Given the description of an element on the screen output the (x, y) to click on. 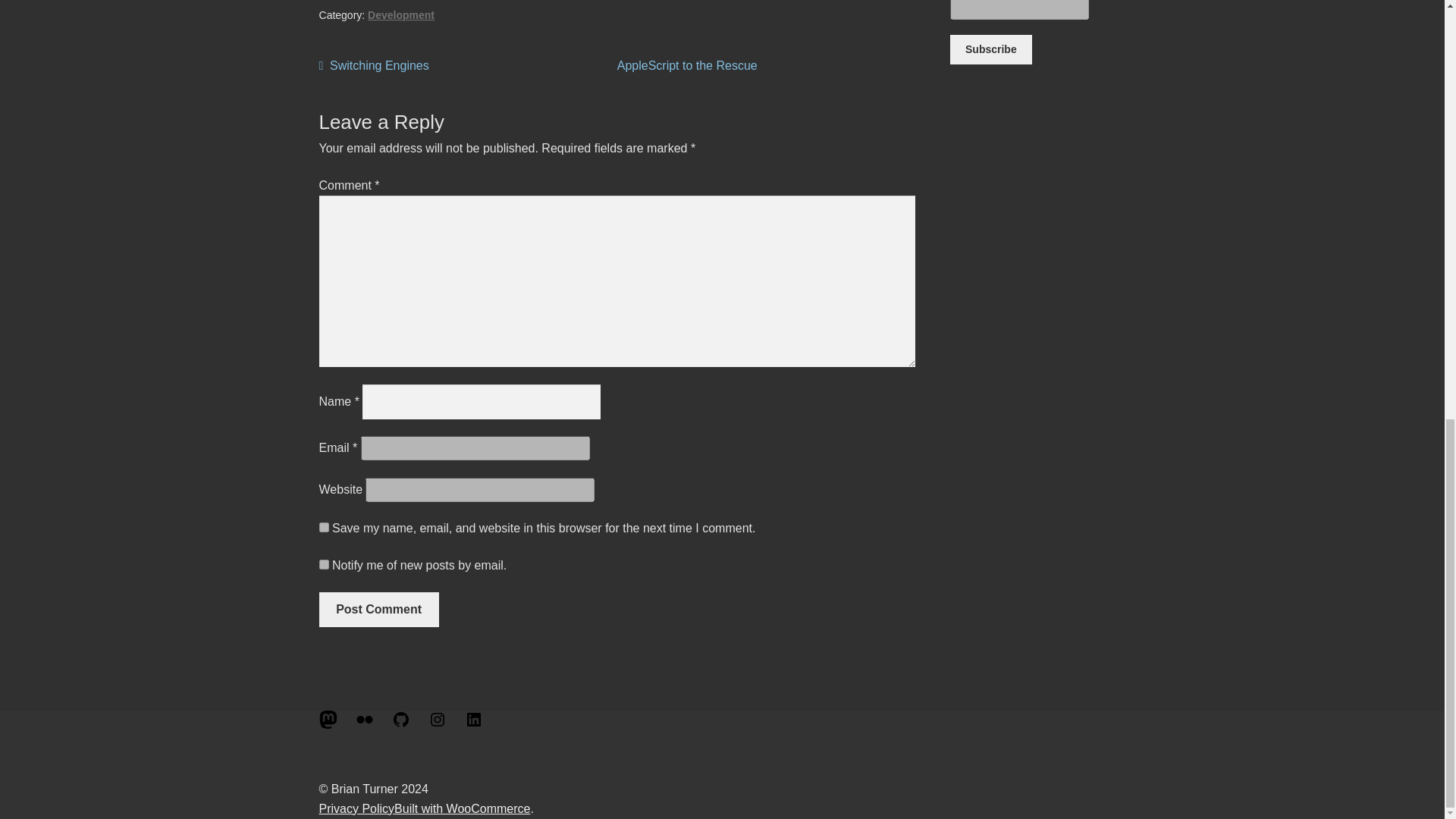
Subscribe (990, 50)
subscribe (323, 564)
Post Comment (378, 609)
Post Comment (378, 609)
WooCommerce - The Best eCommerce Platform for WordPress (373, 66)
Mastodon (461, 808)
Subscribe (327, 724)
Development (990, 50)
yes (400, 15)
